Given the description of an element on the screen output the (x, y) to click on. 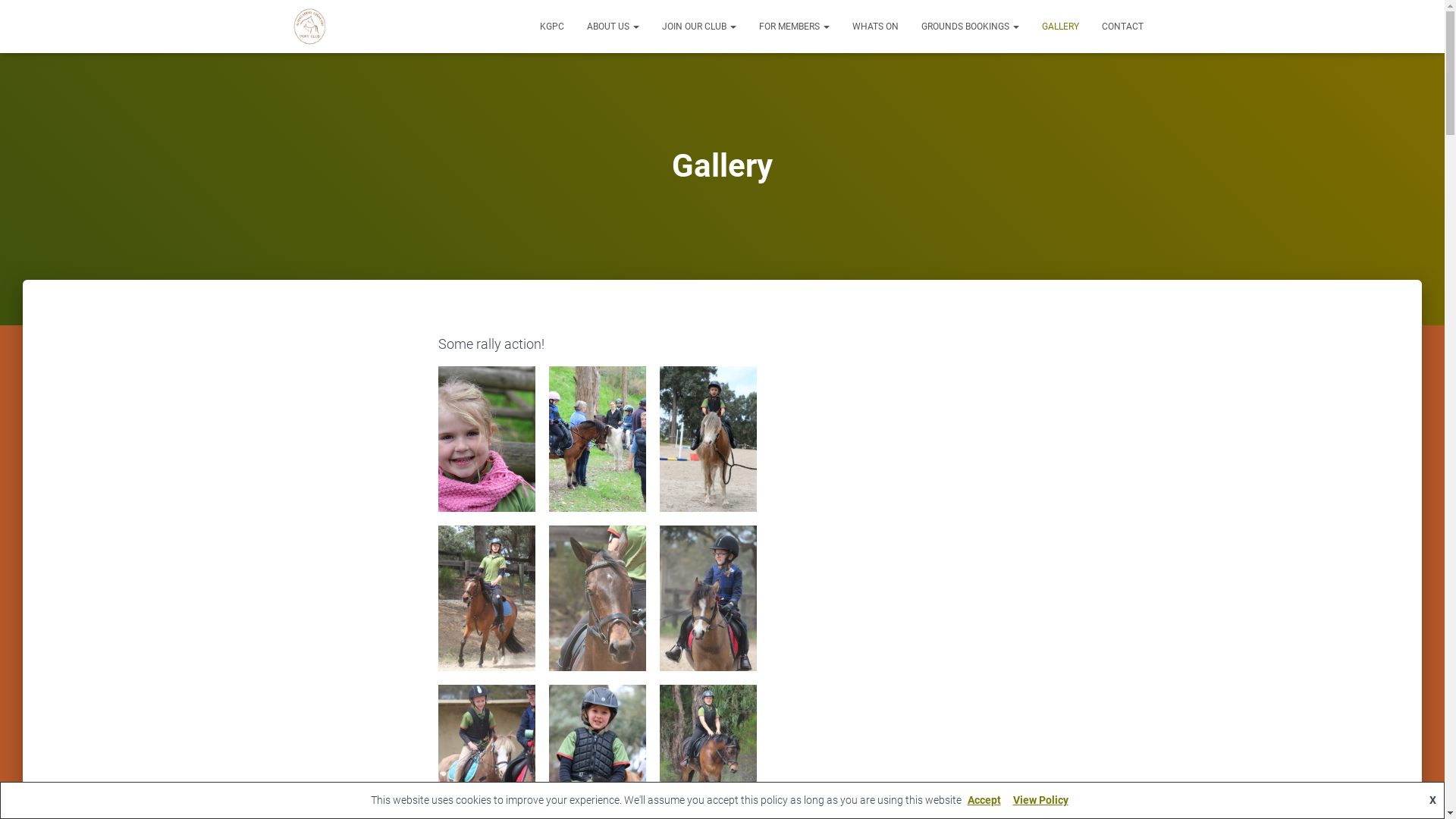
View Policy Element type: text (1040, 799)
CONTACT Element type: text (1122, 26)
WHATS ON Element type: text (874, 26)
GALLERY Element type: text (1059, 26)
KGPC Element type: text (550, 26)
ABOUT US Element type: text (611, 26)
GROUNDS BOOKINGS Element type: text (970, 26)
FOR MEMBERS Element type: text (793, 26)
Accept Element type: text (984, 799)
JOIN OUR CLUB Element type: text (698, 26)
Kangaroo Ground Pony Club Element type: hover (309, 26)
